Given the description of an element on the screen output the (x, y) to click on. 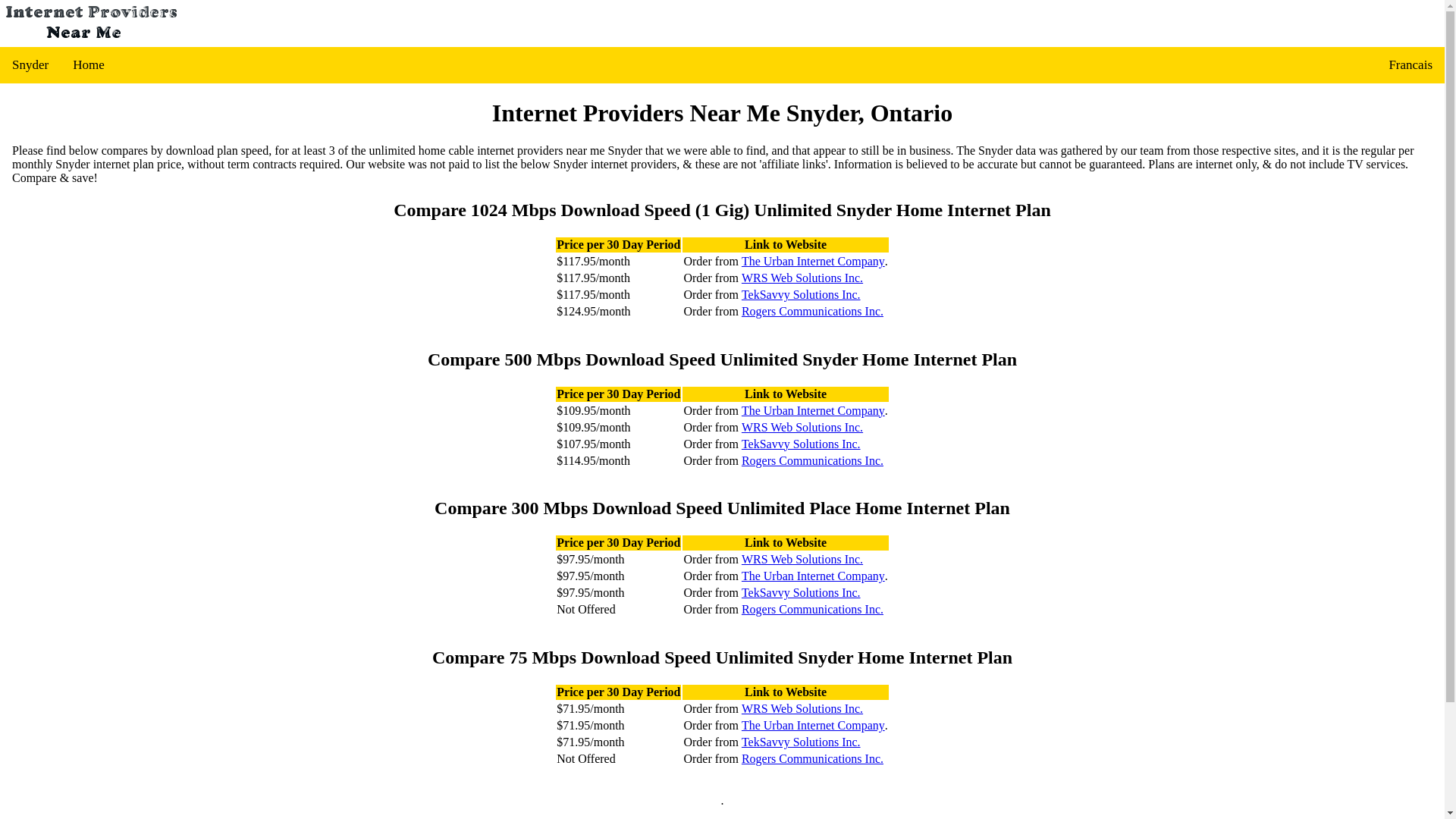
WRS Web Solutions Inc. (802, 559)
Rogers Communications Inc. (812, 311)
TekSavvy Solutions Inc. (800, 592)
WRS Web Solutions Inc. (802, 427)
The Urban Internet Company (813, 409)
Rogers Communications Inc. (812, 758)
WRS Web Solutions Inc. (802, 278)
Home (88, 64)
WRS Web Solutions Inc. (802, 708)
TekSavvy Solutions Inc. (800, 295)
